Given the description of an element on the screen output the (x, y) to click on. 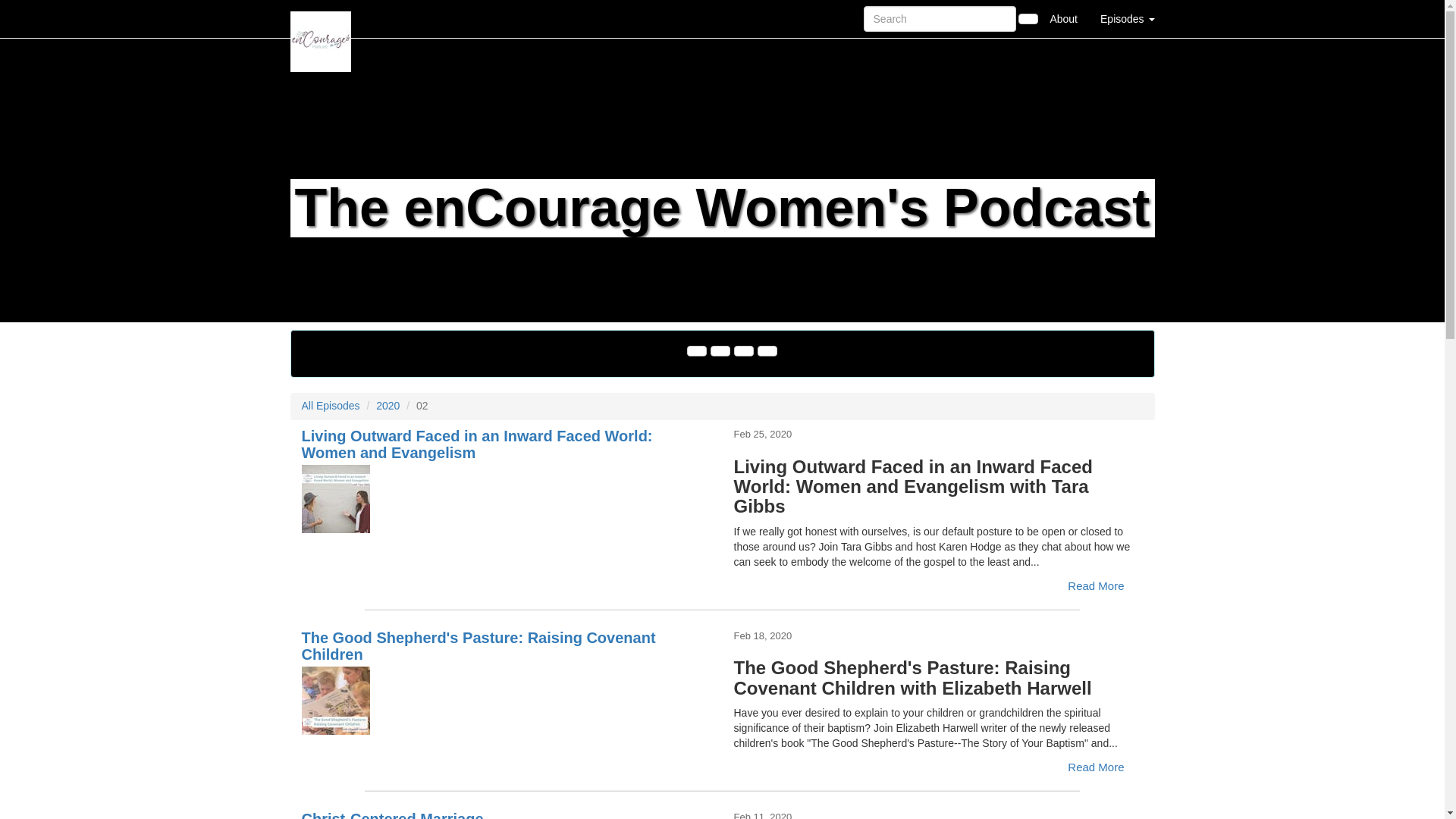
The Good Shepherd's Pasture: Raising Covenant Children (506, 700)
Home Page (320, 18)
Episodes (1127, 18)
About (1063, 18)
